Given the description of an element on the screen output the (x, y) to click on. 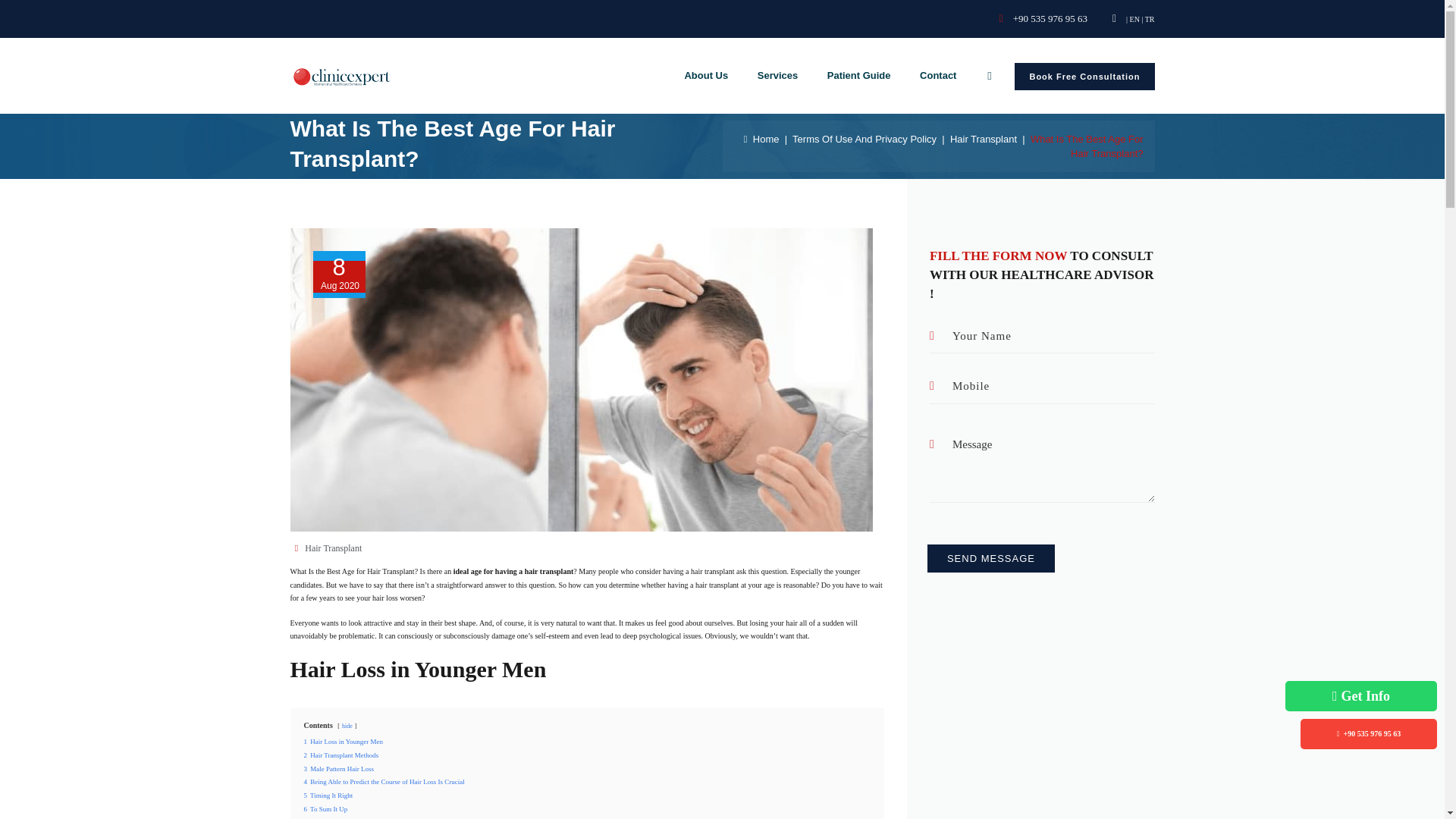
SEND MESSAGE (990, 558)
TR (1149, 19)
Go to the Hair Transplant category archives. (983, 138)
About Us (705, 75)
EN (1134, 19)
Book Free Consultation (1084, 76)
ClinicExpert (341, 75)
Services (778, 75)
Go to ClinicExpert. (761, 138)
Go to Terms of Use and Privacy Policy. (864, 138)
